Given the description of an element on the screen output the (x, y) to click on. 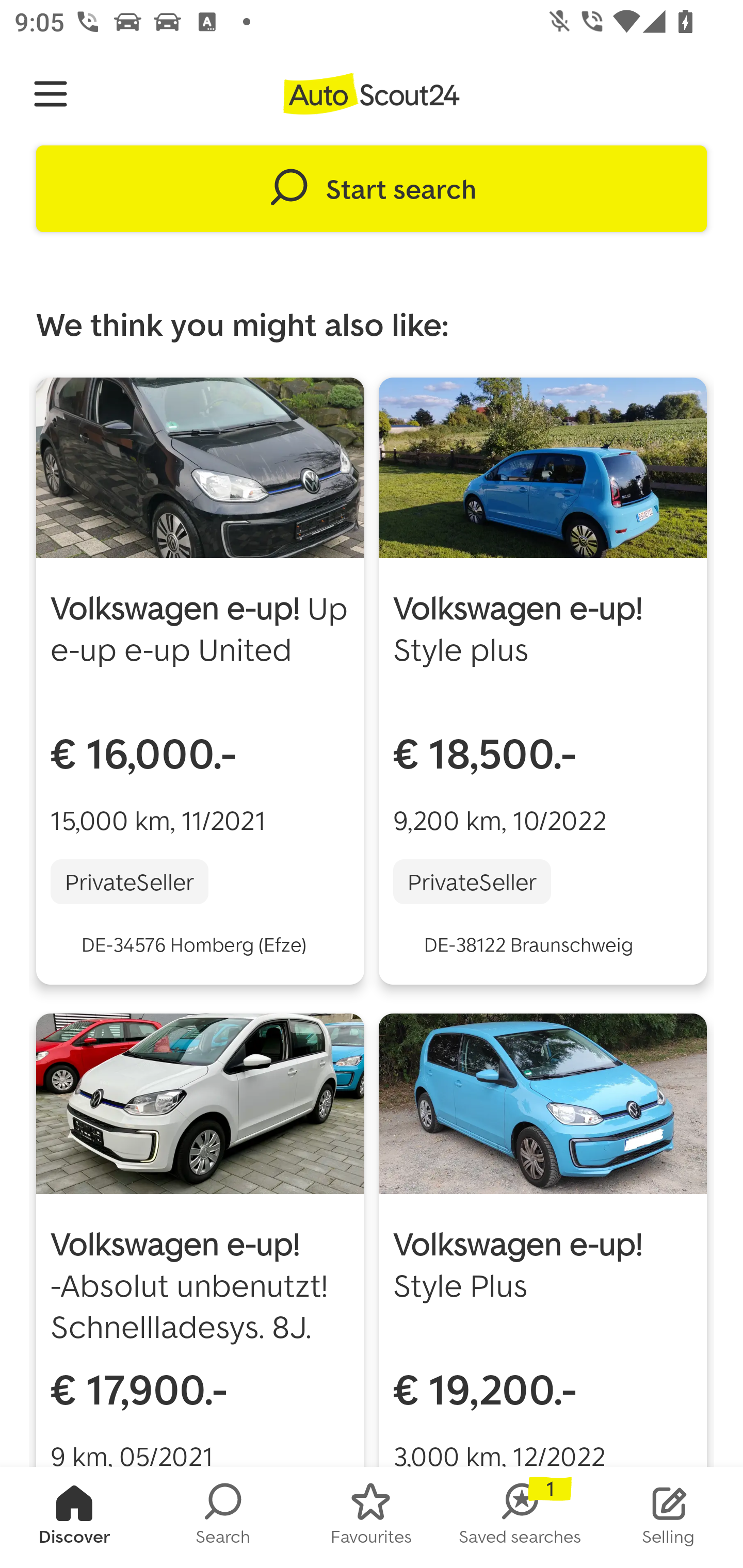
Navigate up (50, 93)
Start search (371, 188)
HOMESCREEN Discover (74, 1517)
SEARCH Search (222, 1517)
FAVORITES Favourites (371, 1517)
SAVED_SEARCHES Saved searches 1 (519, 1517)
STOCK_LIST Selling (668, 1517)
